Given the description of an element on the screen output the (x, y) to click on. 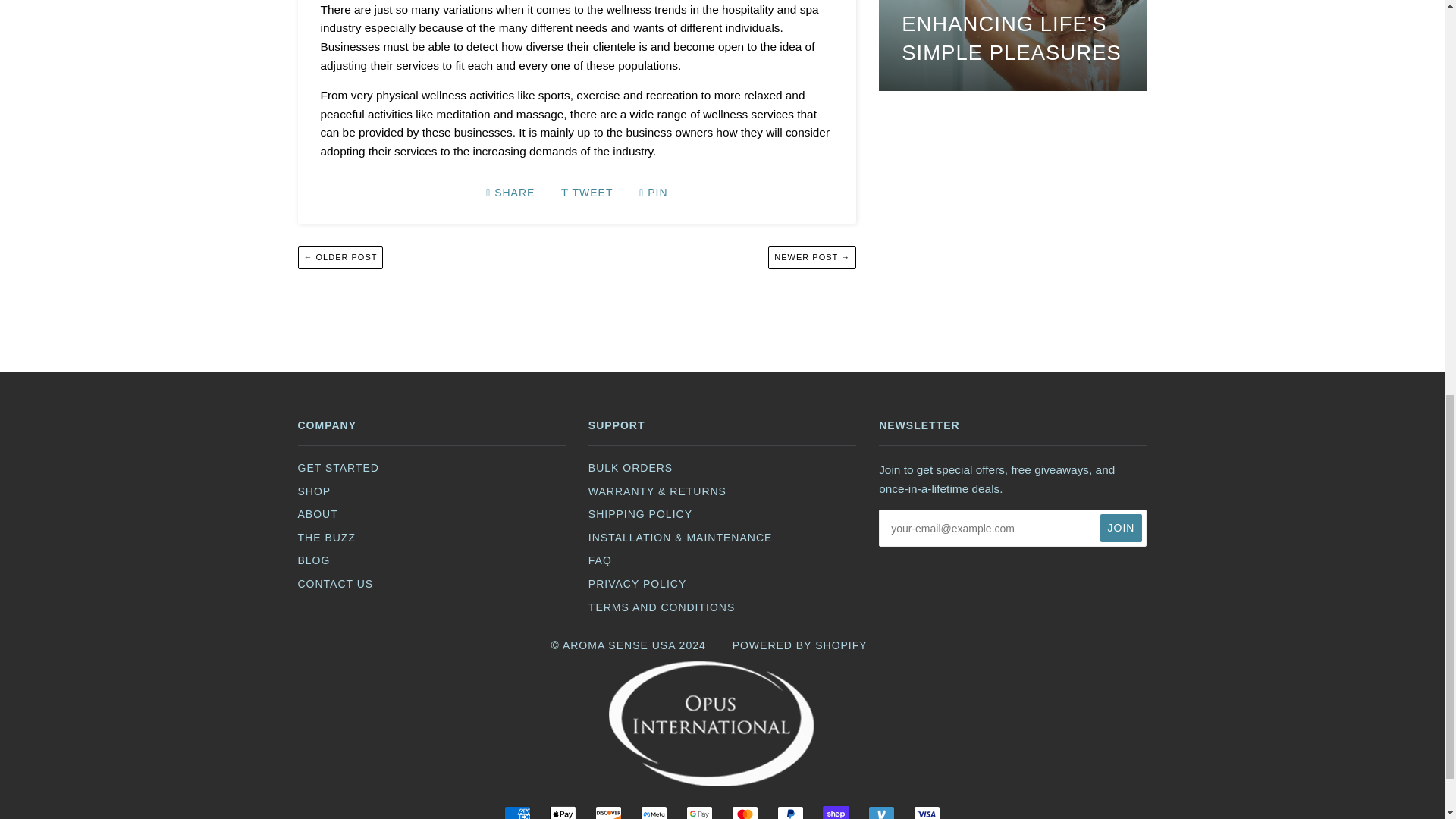
Join (1121, 528)
PAYPAL (790, 812)
DISCOVER (608, 812)
APPLE PAY (563, 812)
AMERICAN EXPRESS (517, 812)
MASTERCARD (745, 812)
VENMO (881, 812)
VISA (925, 812)
SHOP PAY (835, 812)
META PAY (653, 812)
